Given the description of an element on the screen output the (x, y) to click on. 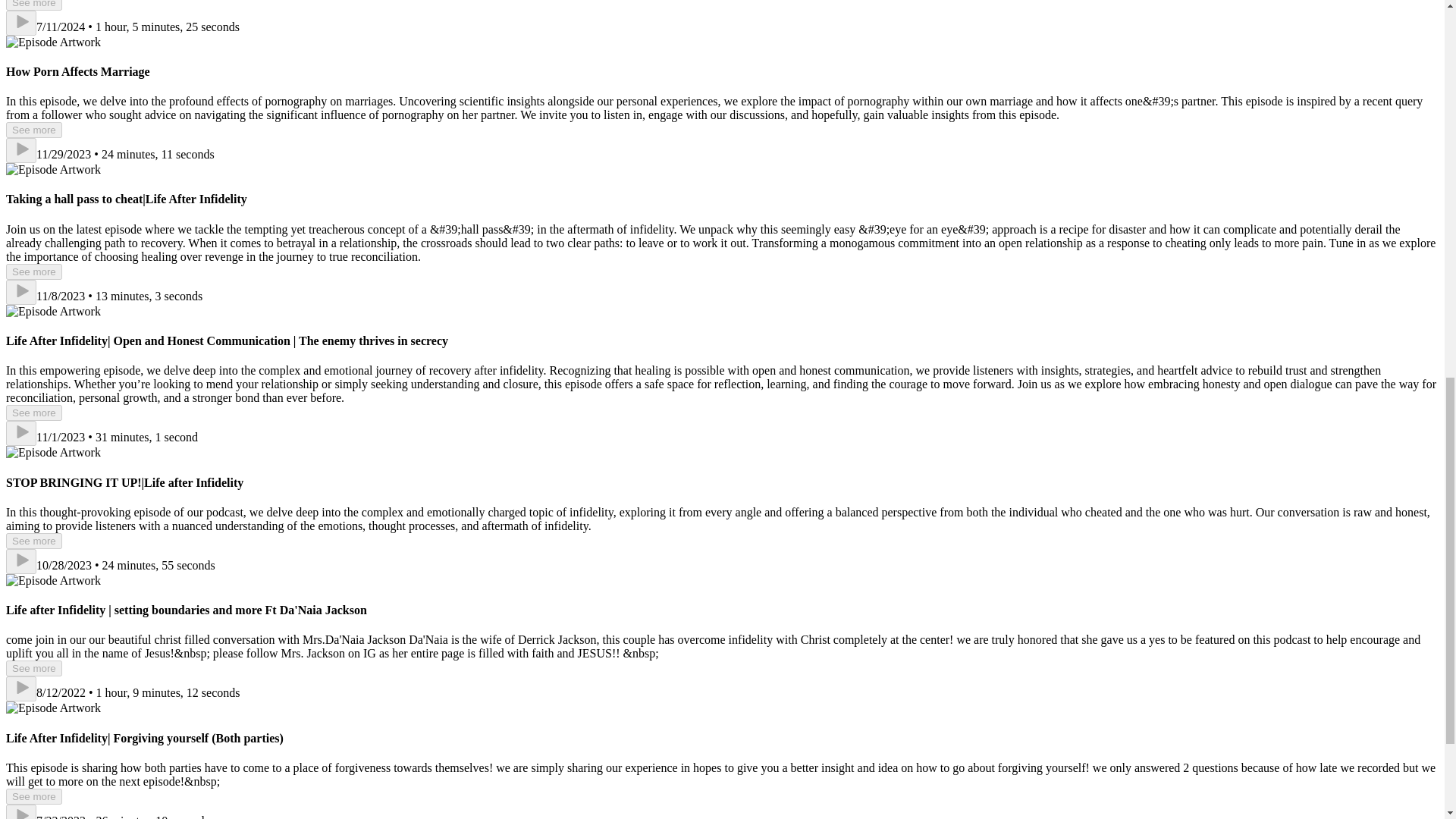
See more (33, 668)
See more (33, 130)
See more (33, 271)
See more (33, 796)
See more (33, 5)
See more (33, 412)
See more (33, 540)
